Given the description of an element on the screen output the (x, y) to click on. 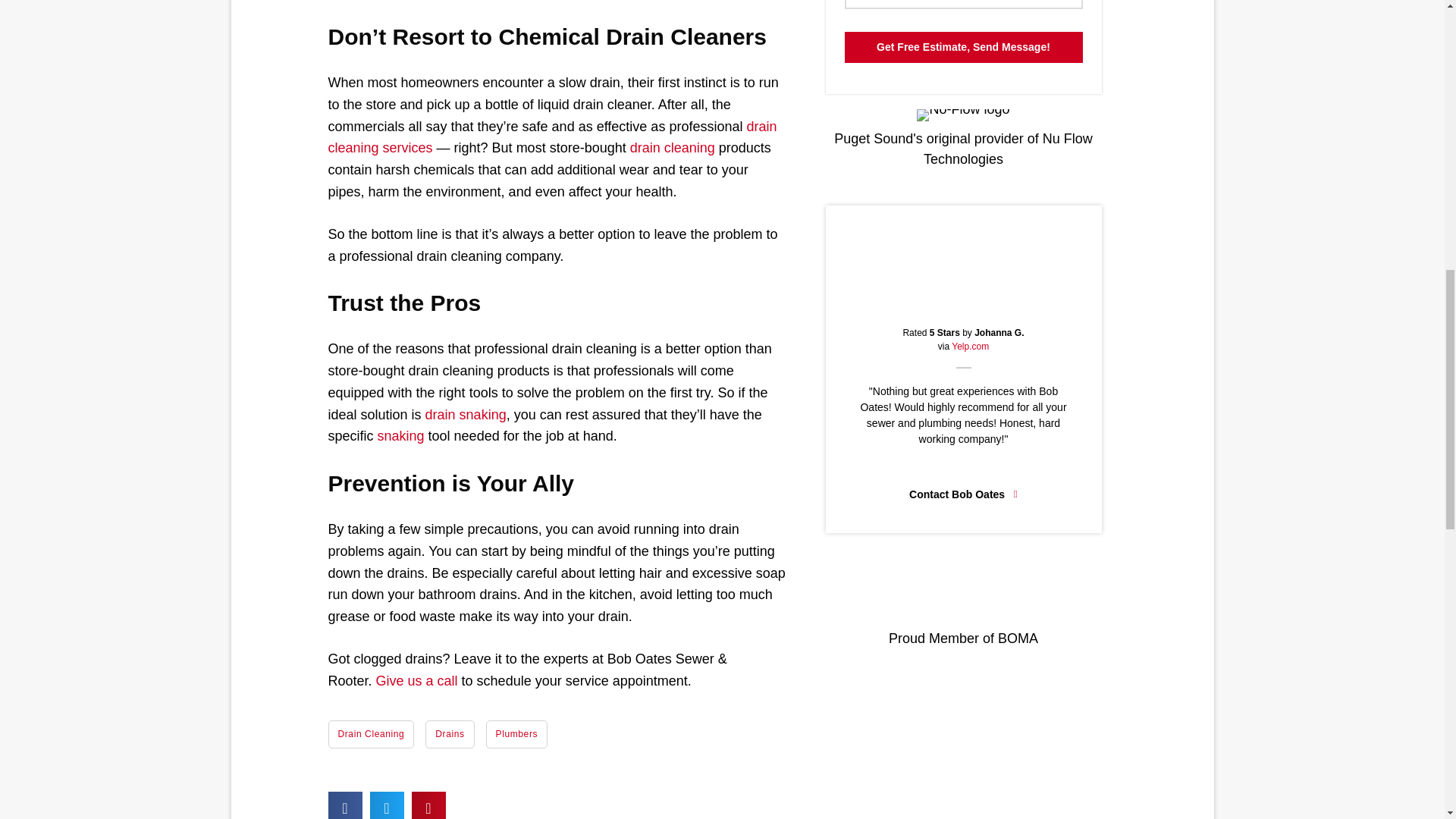
johanna-g (963, 255)
Get Free Estimate, Send Message! (963, 47)
logo-nu-flow (963, 114)
stars (963, 304)
bob-oates-boma (963, 591)
